Given the description of an element on the screen output the (x, y) to click on. 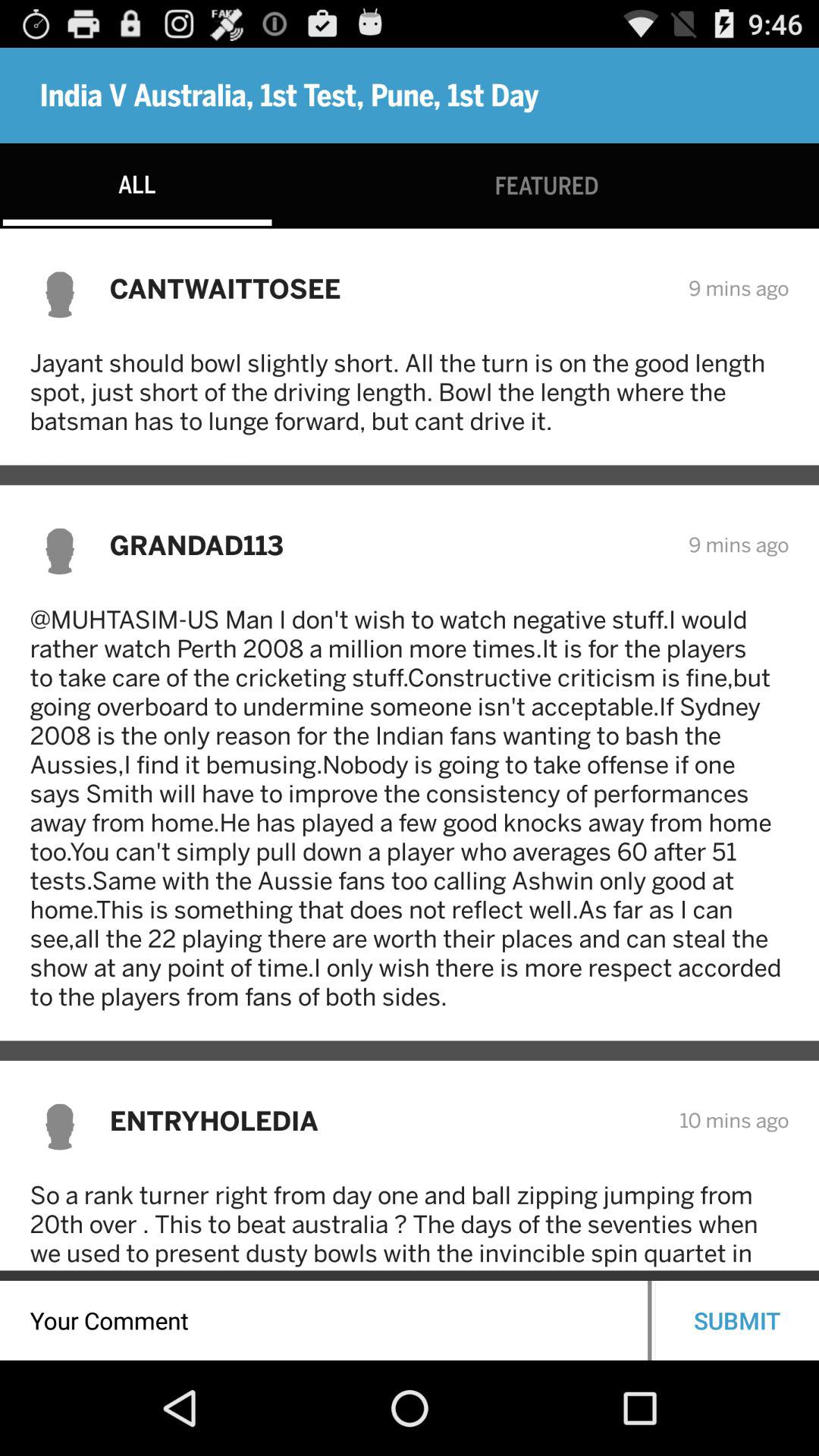
enter a comment (323, 1320)
